Given the description of an element on the screen output the (x, y) to click on. 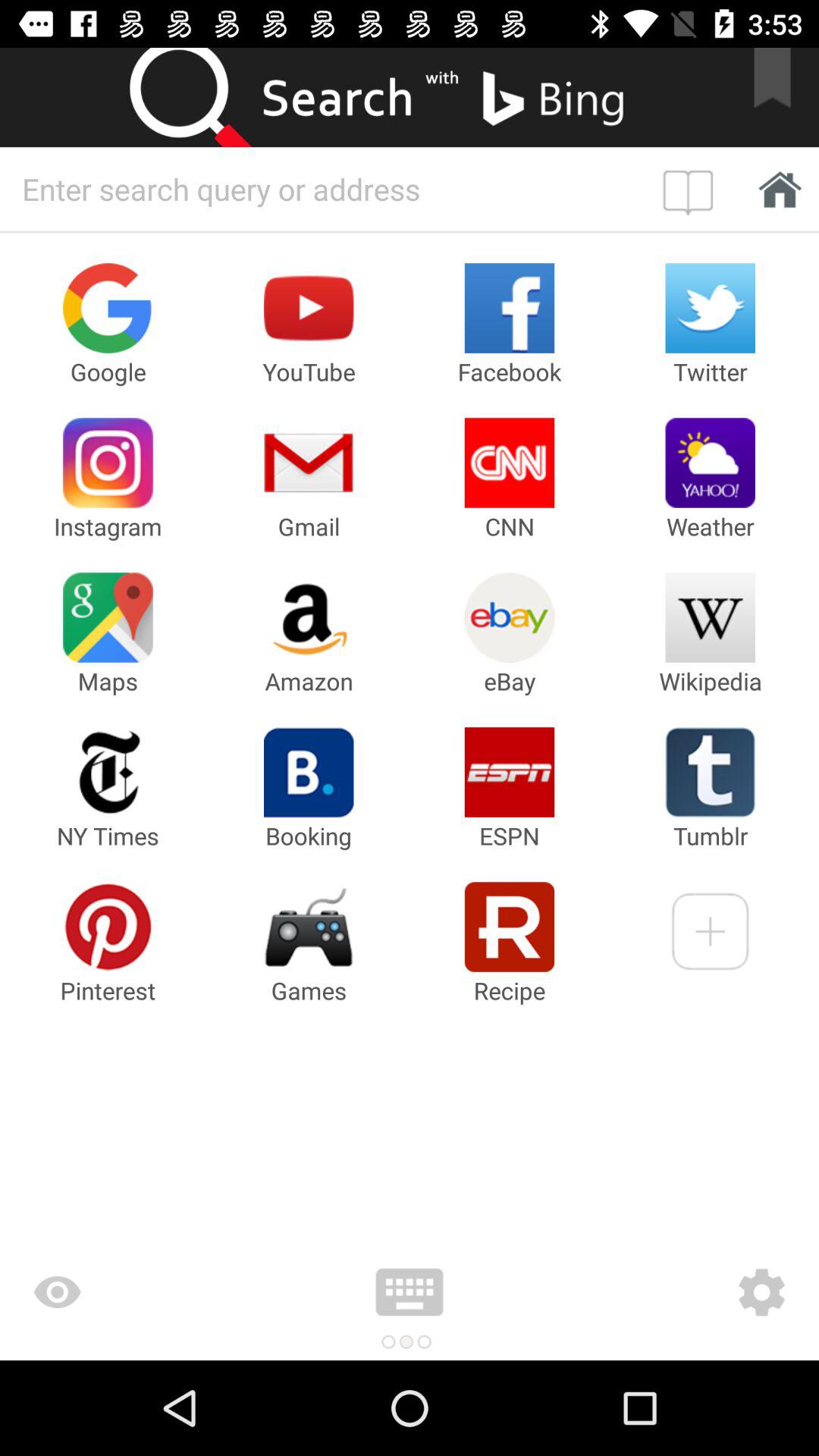
toggle keyboard (409, 1292)
